Given the description of an element on the screen output the (x, y) to click on. 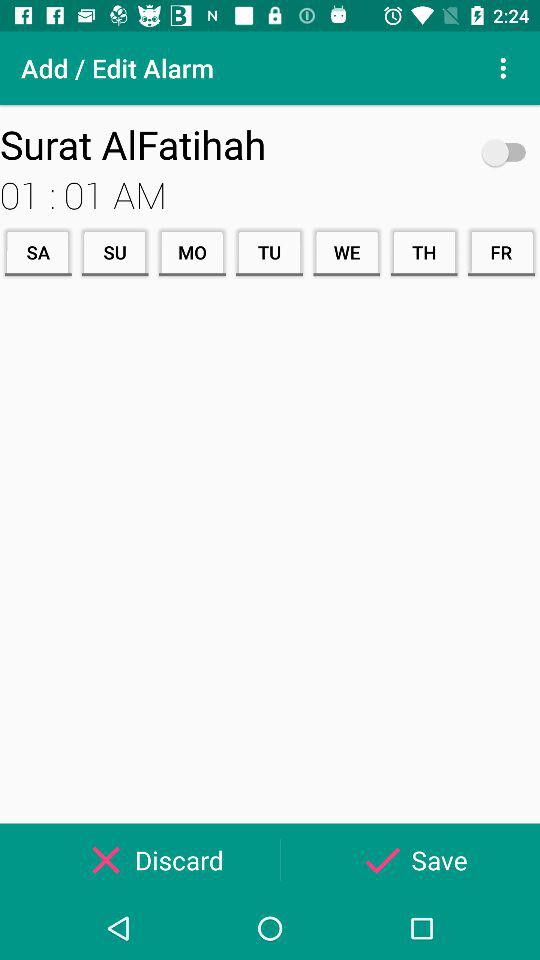
tap item next to the we icon (423, 251)
